Given the description of an element on the screen output the (x, y) to click on. 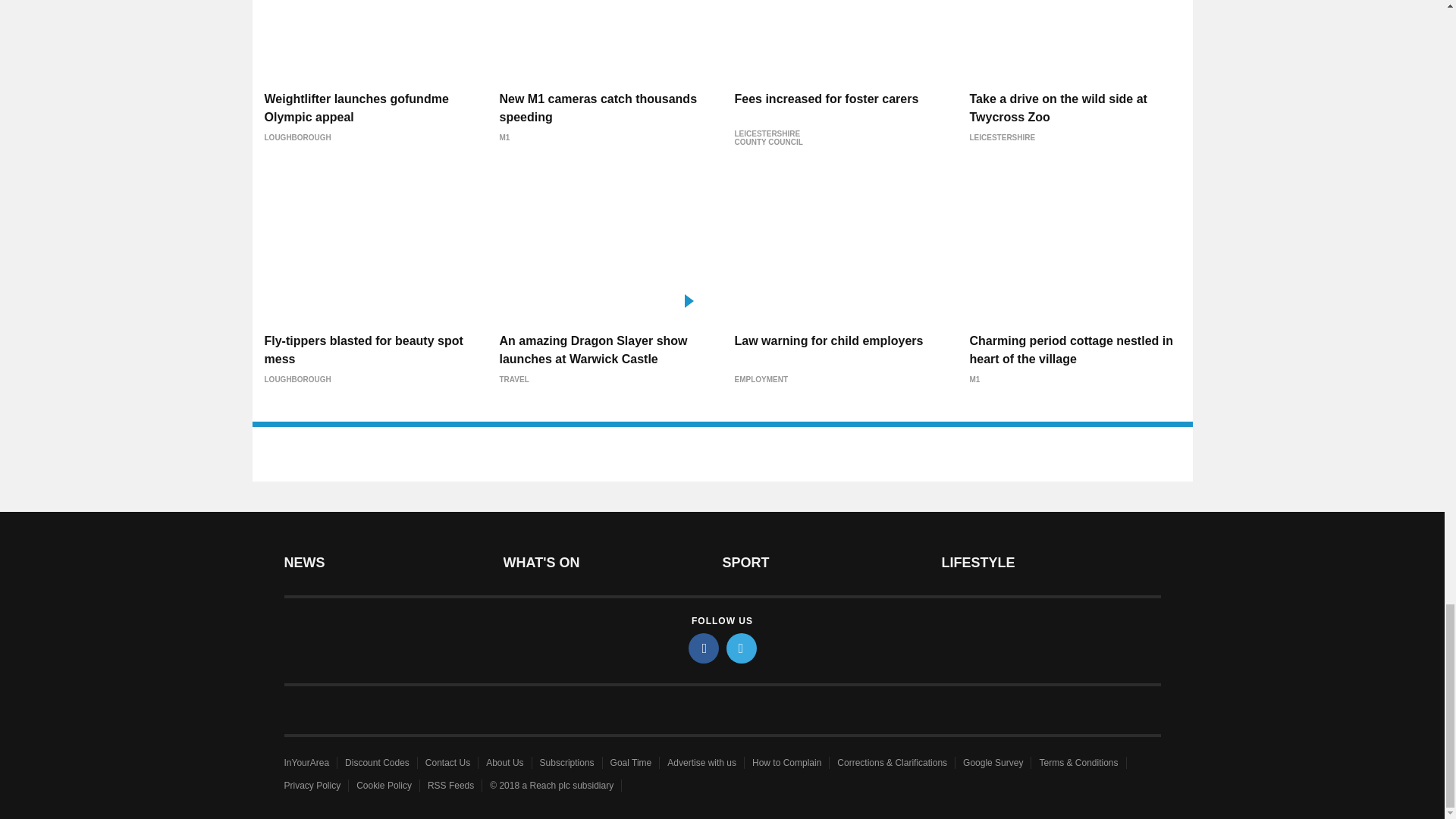
twitter (741, 648)
facebook (703, 648)
